Given the description of an element on the screen output the (x, y) to click on. 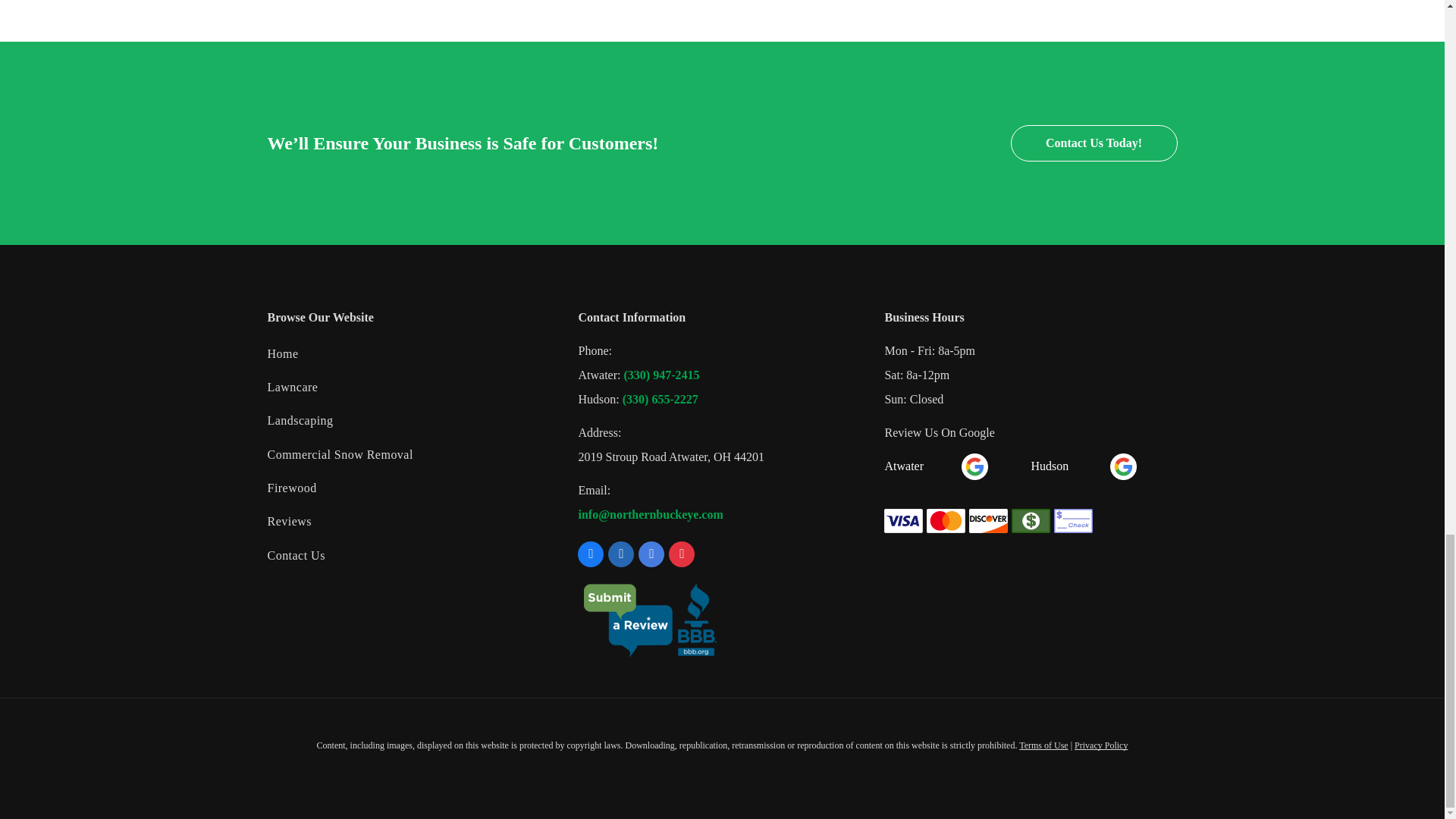
Contact Us (410, 556)
Reviews (410, 522)
Google (974, 466)
Google (1123, 466)
Commercial Snow Removal (410, 454)
Terms of Use (1043, 745)
Firewood (410, 489)
Privacy Policy (1100, 745)
Contact Us Today! (1093, 143)
Landscaping (410, 421)
